Given the description of an element on the screen output the (x, y) to click on. 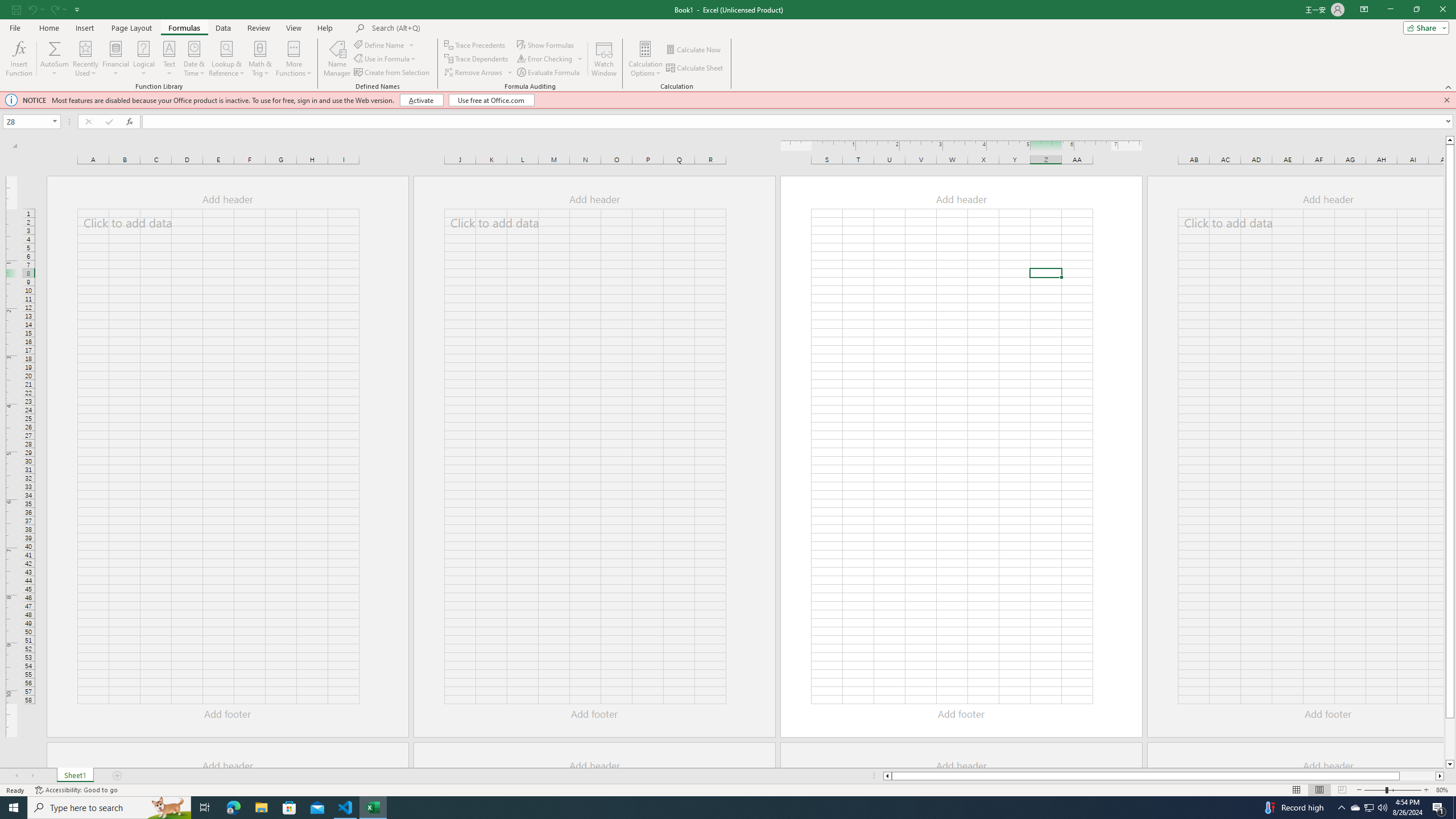
Show Formulas (546, 44)
Logical (143, 58)
Evaluate Formula (549, 72)
Date & Time (194, 58)
Calculate Sheet (694, 67)
